Given the description of an element on the screen output the (x, y) to click on. 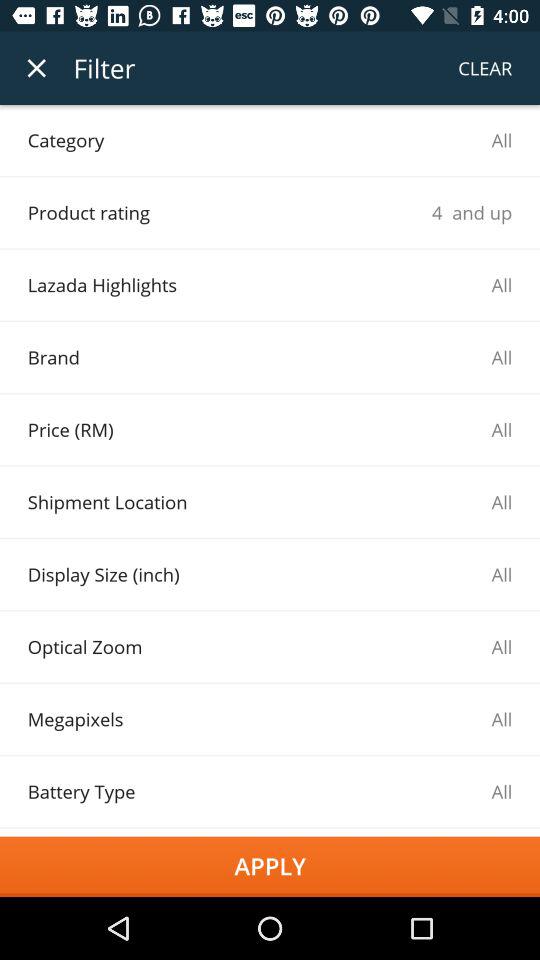
choose icon to the right of filter icon (485, 68)
